Given the description of an element on the screen output the (x, y) to click on. 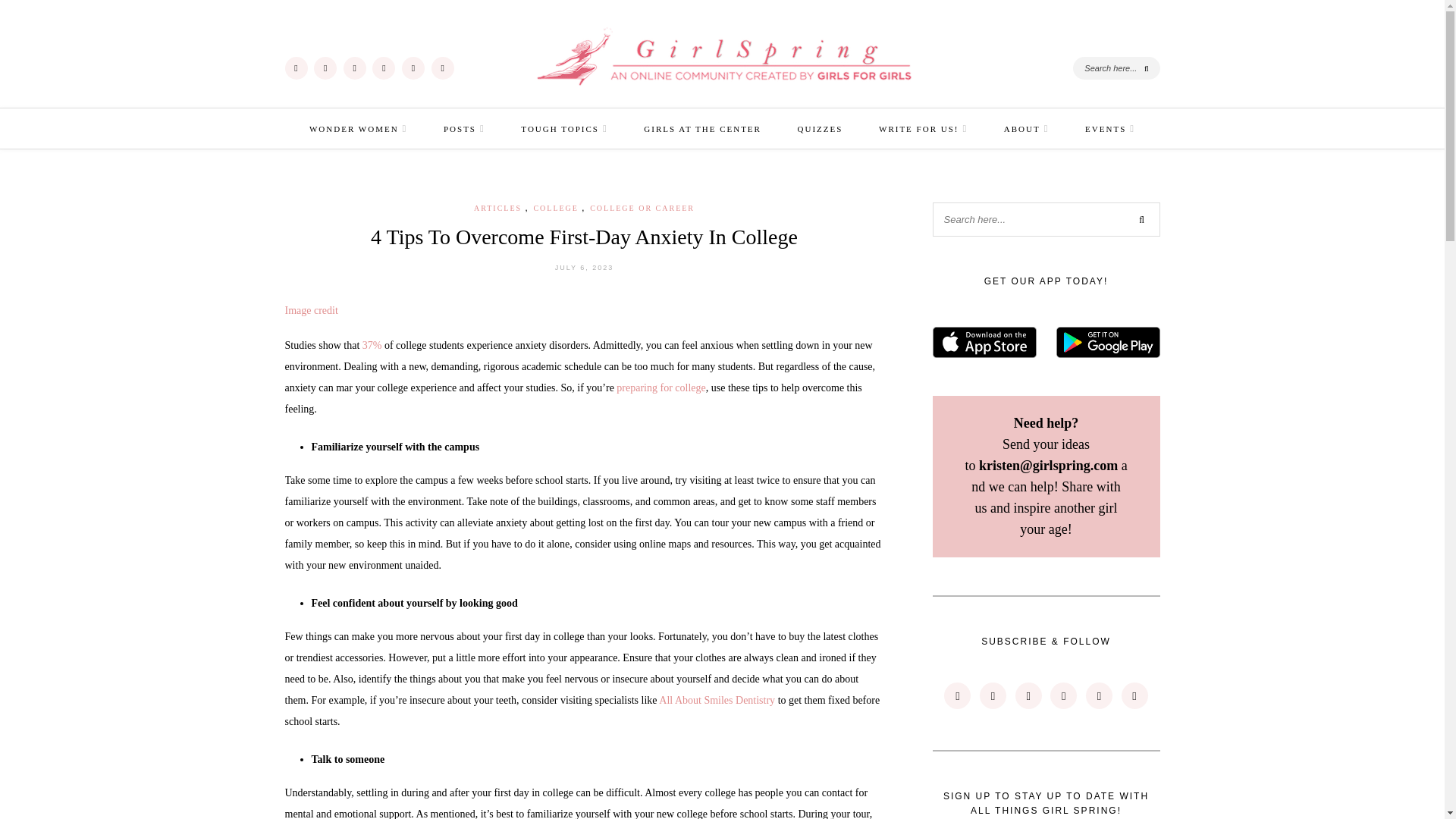
TOUGH TOPICS (564, 128)
WONDER WOMEN (357, 128)
POSTS (464, 128)
